Given the description of an element on the screen output the (x, y) to click on. 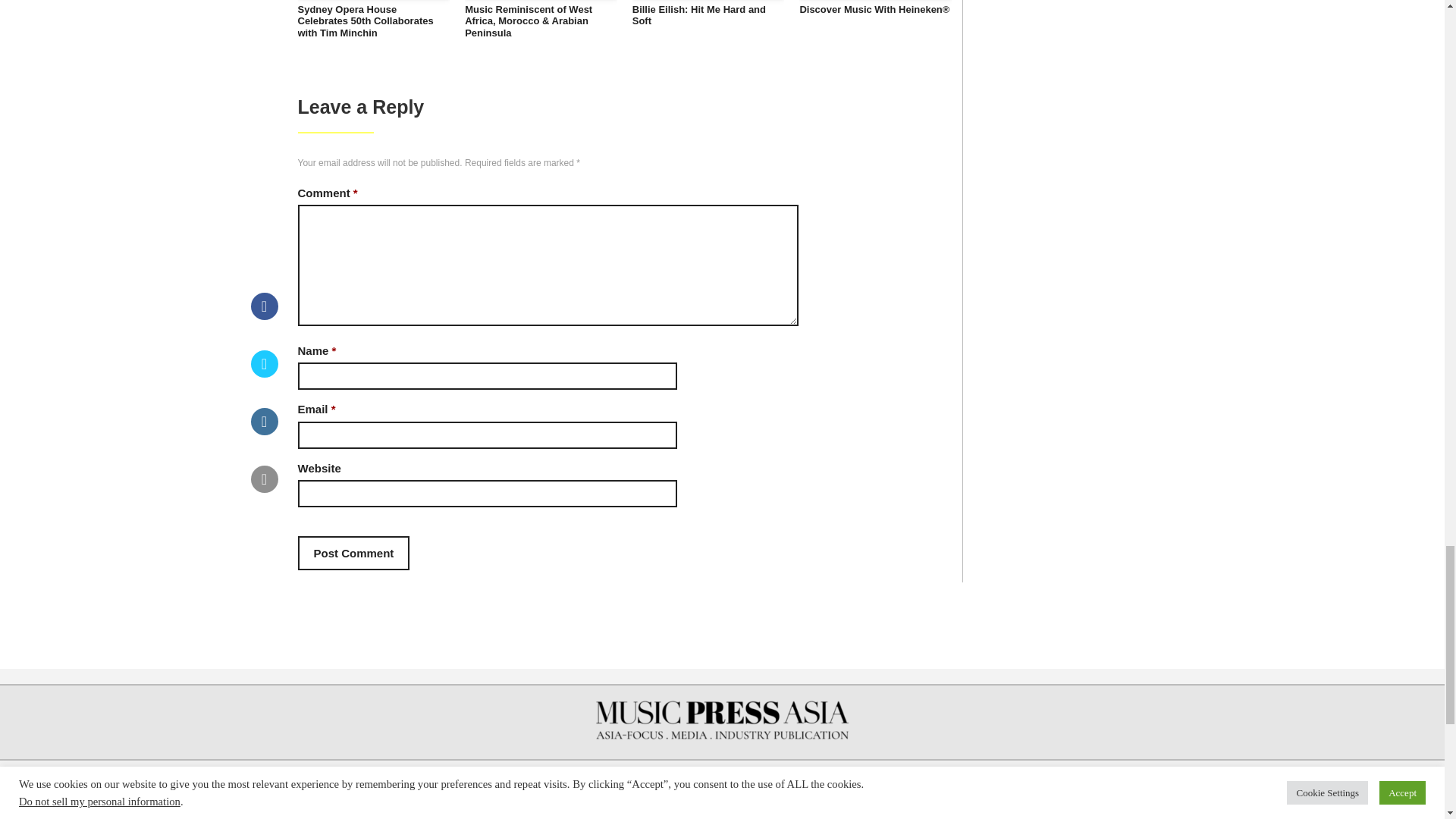
Search (1138, 790)
Post Comment (353, 553)
Search (1138, 790)
